Given the description of an element on the screen output the (x, y) to click on. 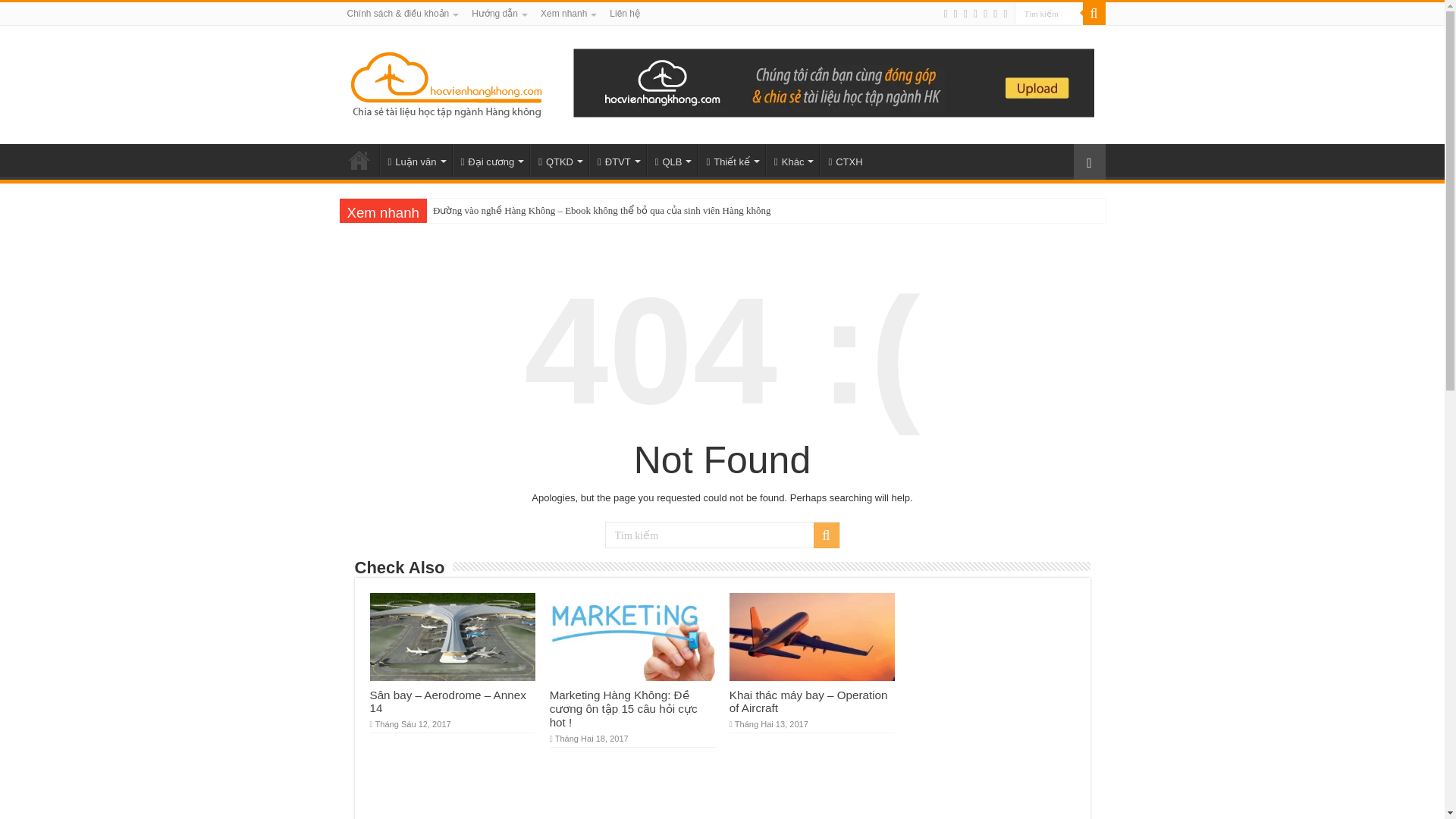
Xem nhanh (567, 13)
